Given the description of an element on the screen output the (x, y) to click on. 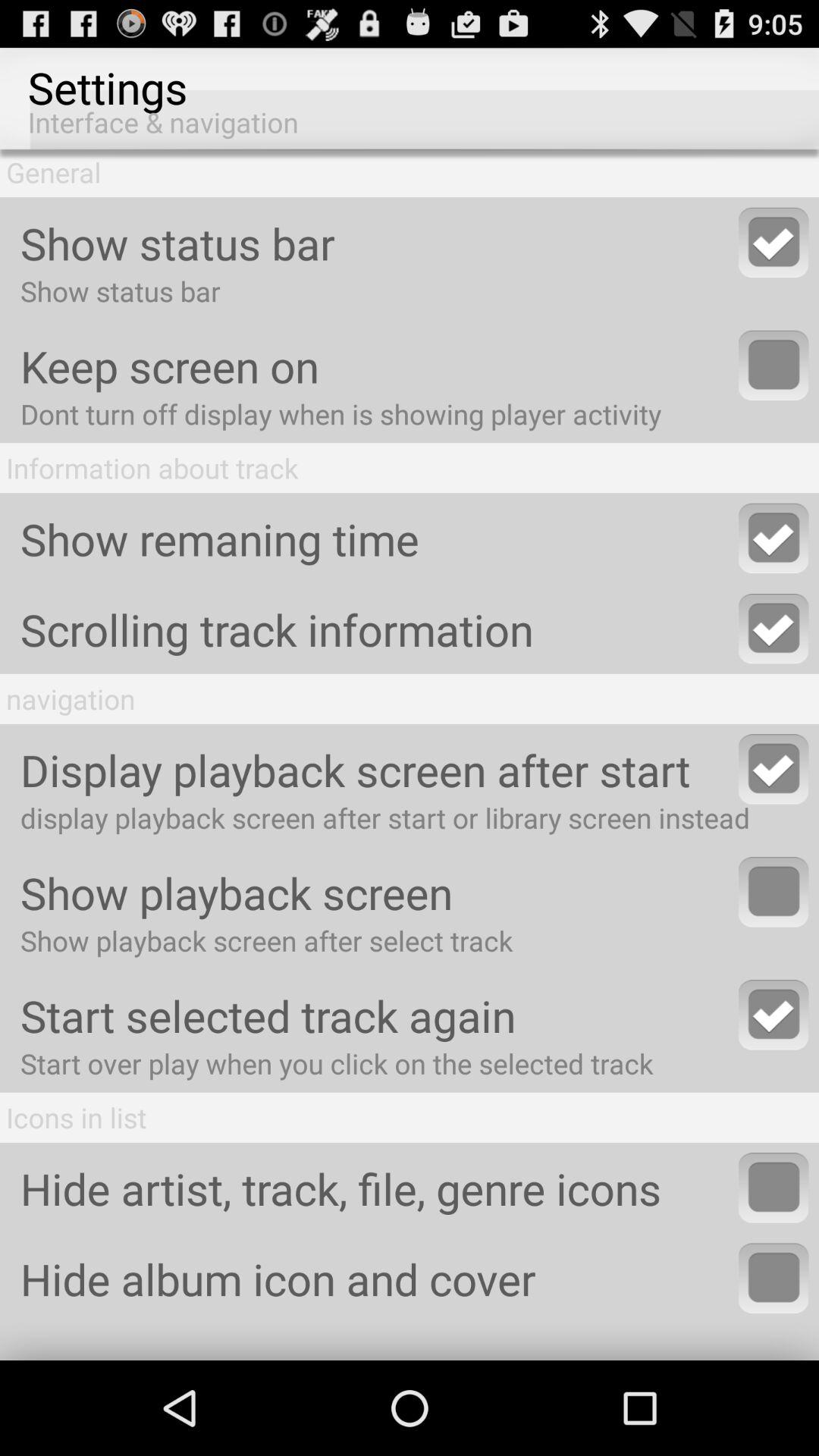
unselect option (773, 1014)
